Given the description of an element on the screen output the (x, y) to click on. 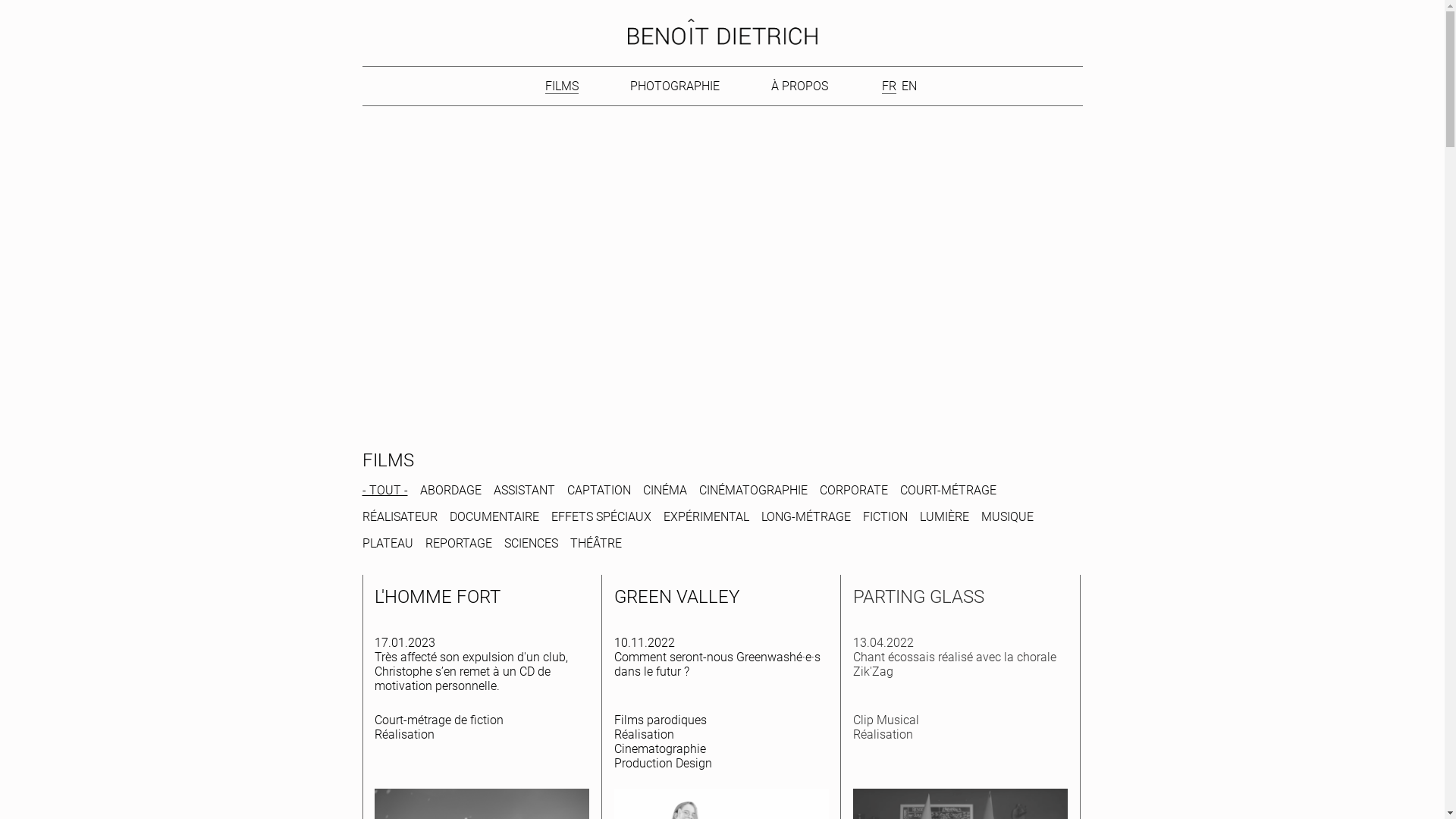
GREEN VALLEY Element type: text (676, 598)
Aller au contenu principal Element type: text (6, 6)
Appliquer Element type: text (26, 7)
EN Element type: text (908, 85)
FILMS Element type: text (561, 86)
PARTING GLASS Element type: text (918, 598)
Films parodiques Element type: text (660, 719)
FR Element type: text (888, 86)
L'HOMME FORT Element type: text (437, 598)
Clip Musical Element type: text (886, 719)
PHOTOGRAPHIE Element type: text (674, 85)
